Given the description of an element on the screen output the (x, y) to click on. 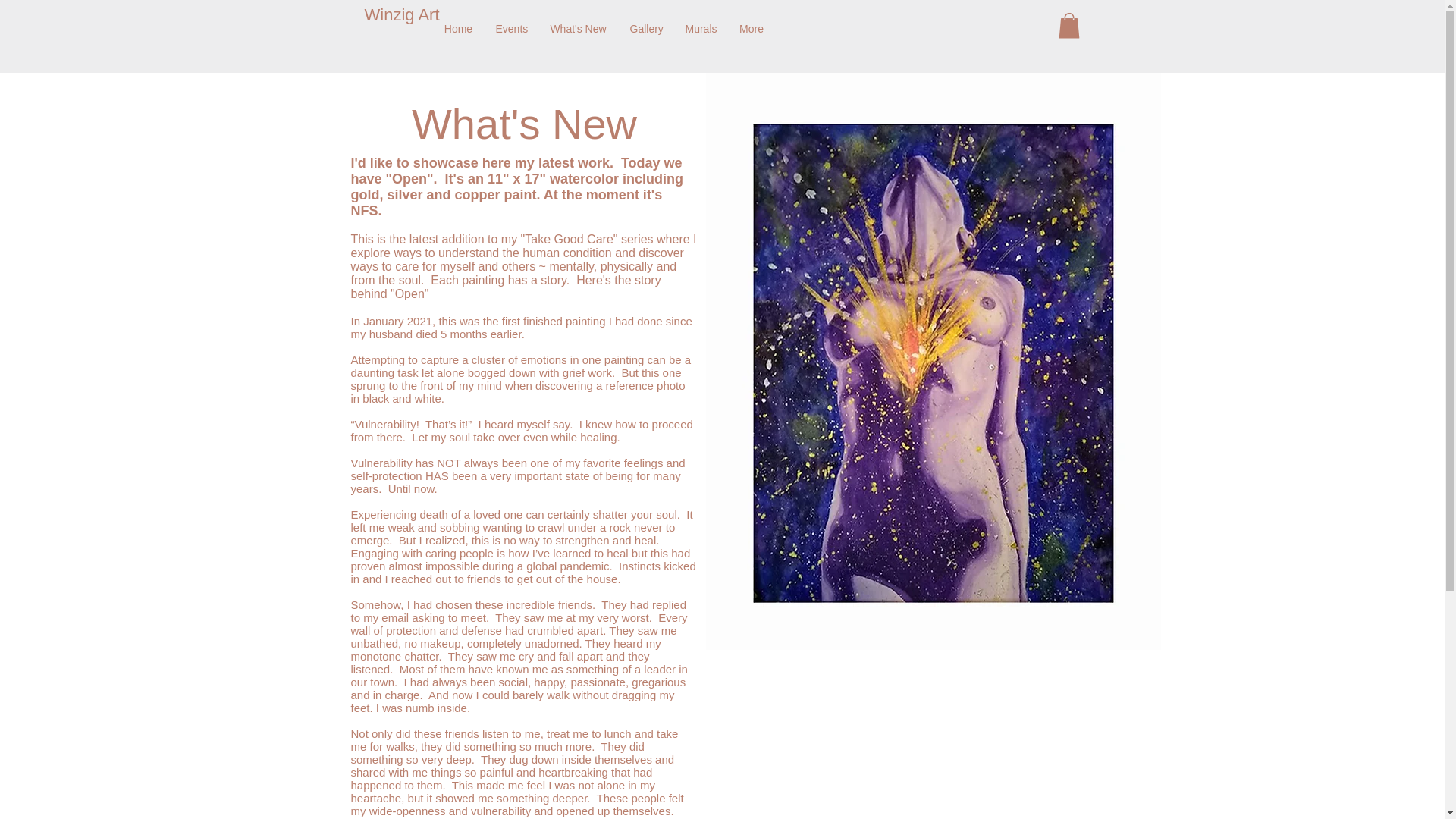
Winzig Art (404, 15)
Home (457, 28)
What's New (578, 28)
Murals (699, 28)
Gallery (646, 28)
Events (510, 28)
